Given the description of an element on the screen output the (x, y) to click on. 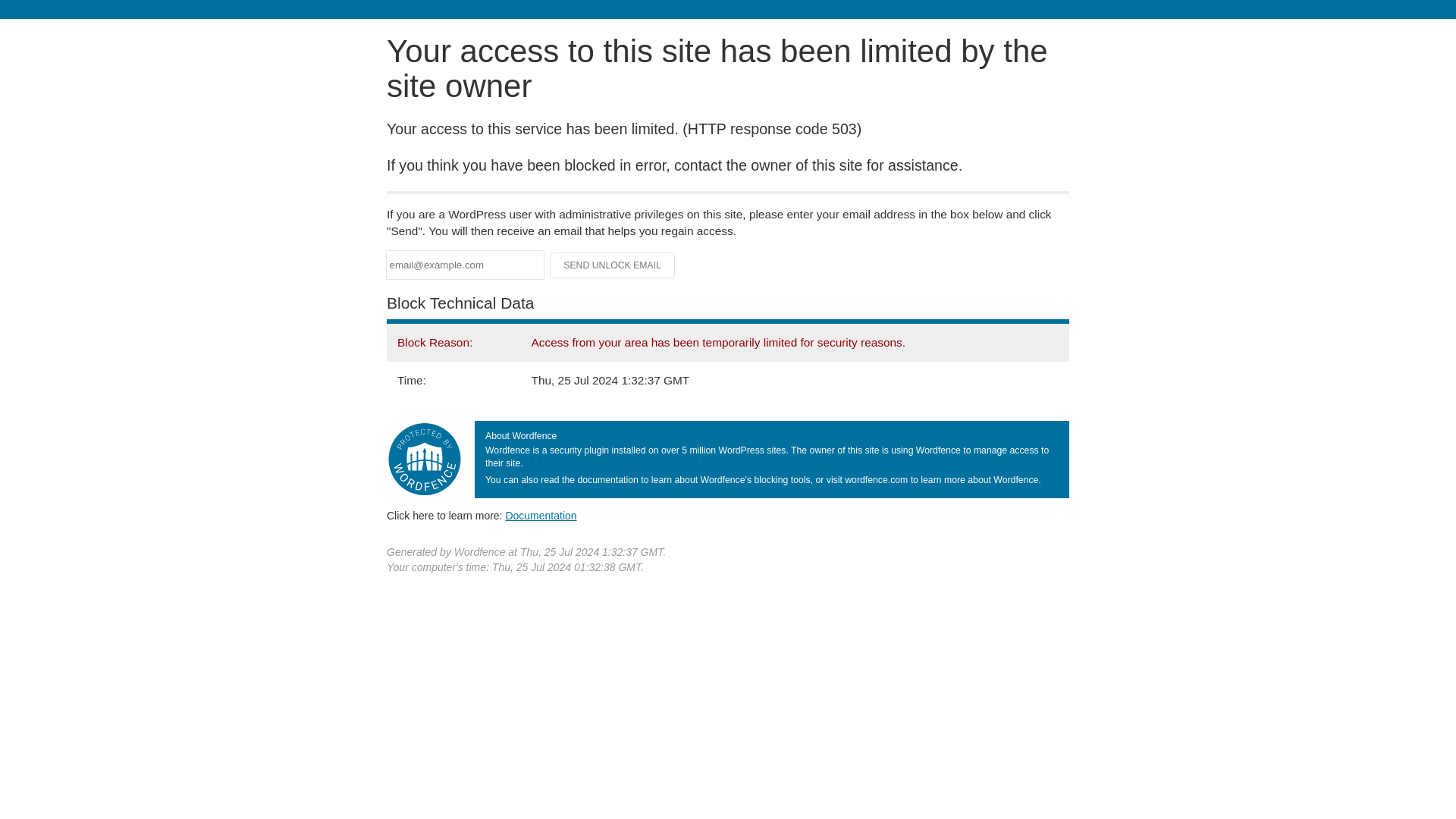
Send Unlock Email (612, 265)
Send Unlock Email (612, 265)
Documentation (540, 515)
